Given the description of an element on the screen output the (x, y) to click on. 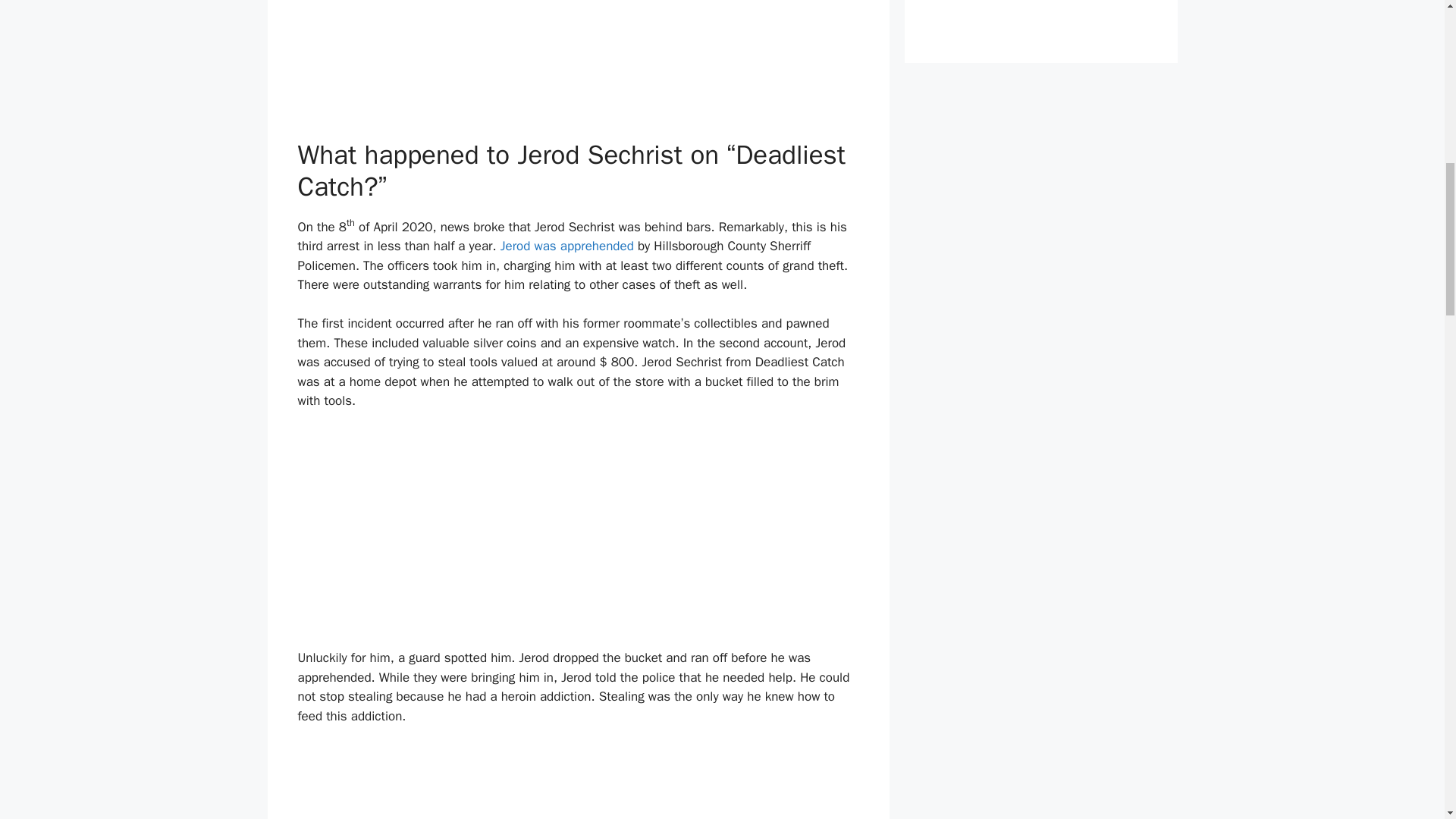
Jerod was apprehended (566, 245)
